Given the description of an element on the screen output the (x, y) to click on. 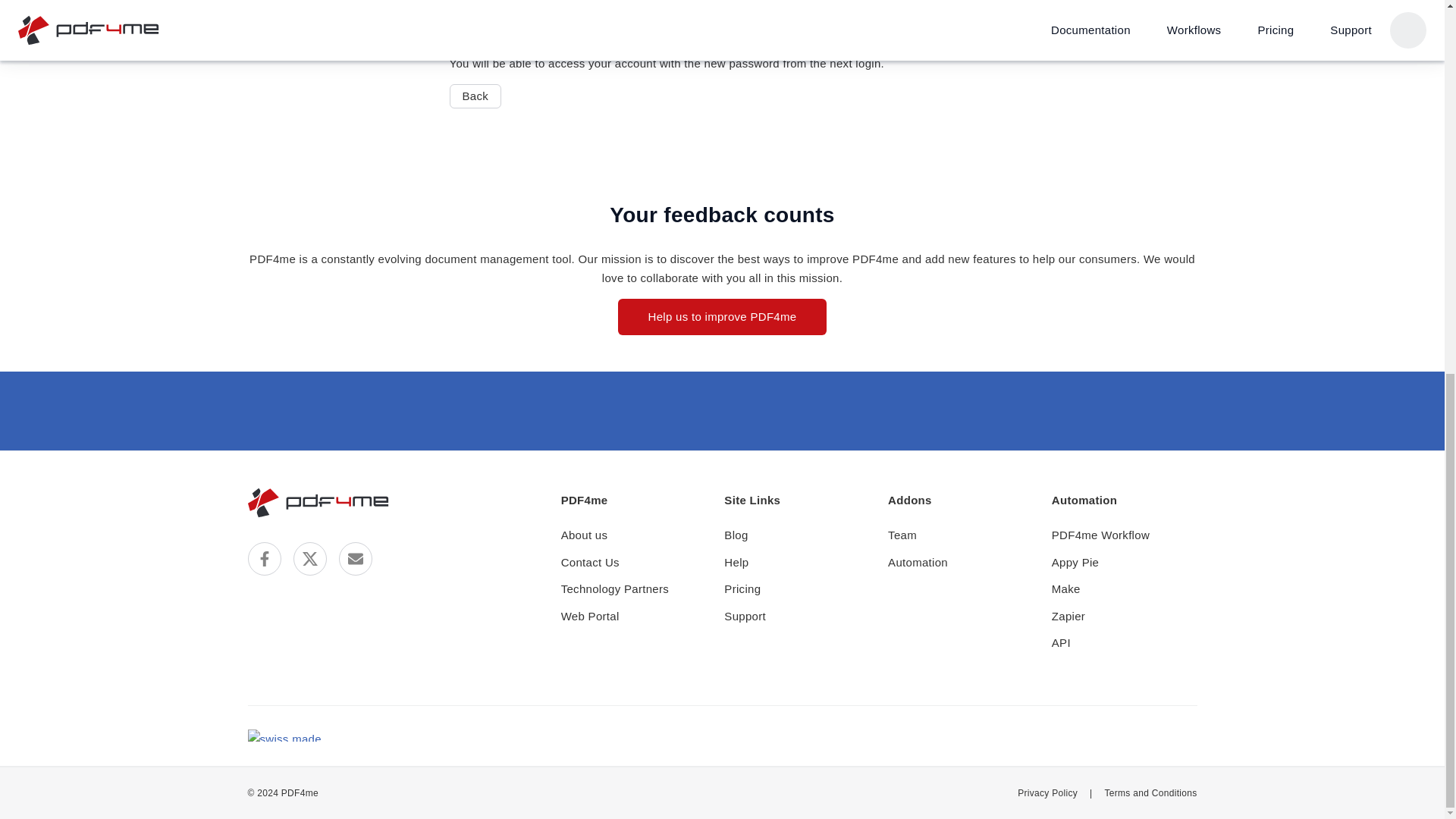
Account (740, 0)
About us (584, 534)
facebook (264, 558)
Help us to improve PDF4me (722, 316)
Pricing (741, 588)
Contact Us (590, 562)
Web Portal (590, 615)
Support (744, 615)
Back (474, 96)
Technology Partners (614, 588)
PDF4me logo (317, 502)
Contact (354, 558)
twitter (309, 558)
